Given the description of an element on the screen output the (x, y) to click on. 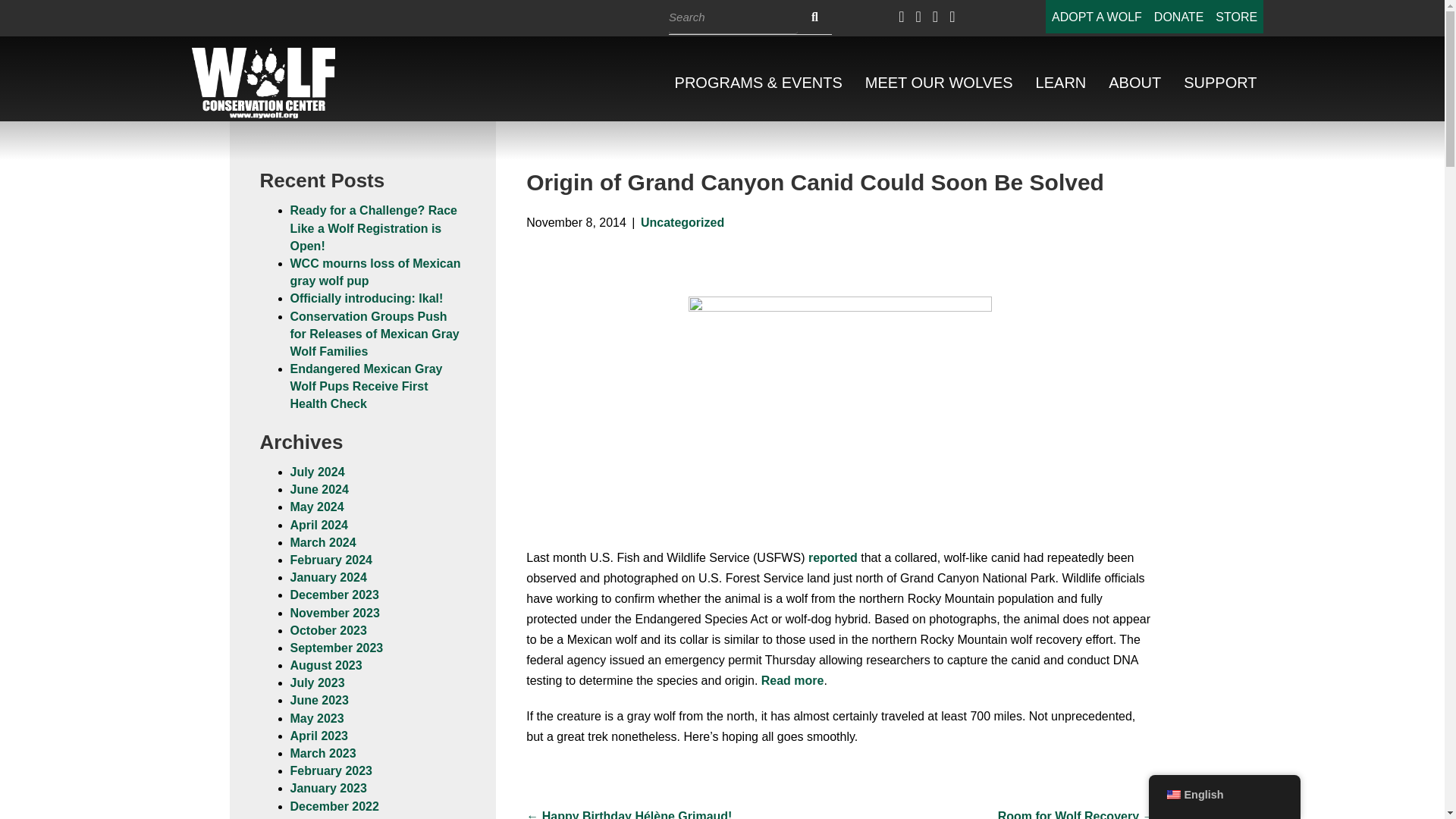
ADOPT A WOLF (1096, 16)
Wcc Logo White (264, 82)
LEARN (1061, 82)
STORE (1236, 16)
DONATE (1178, 16)
English (1172, 794)
Search (732, 17)
MEET OUR WOLVES (939, 82)
